Given the description of an element on the screen output the (x, y) to click on. 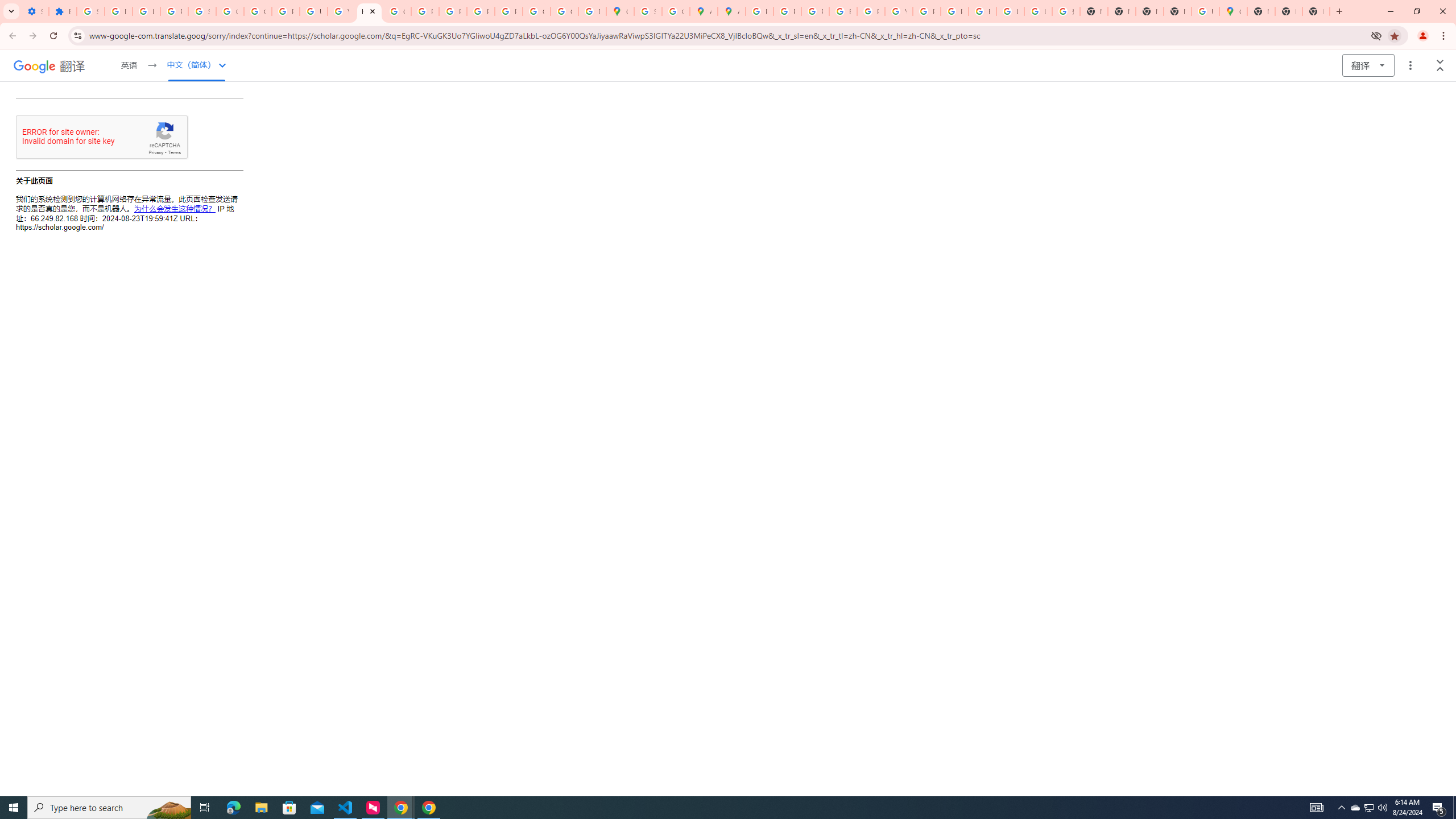
Google Account Help (257, 11)
Settings - On startup (34, 11)
Extensions (62, 11)
Google Maps (1233, 11)
Google Account Help (229, 11)
Learn how to find your photos - Google Photos Help (146, 11)
Policy Accountability and Transparency - Transparency Center (759, 11)
Third-party cookies blocked (1376, 35)
